Given the description of an element on the screen output the (x, y) to click on. 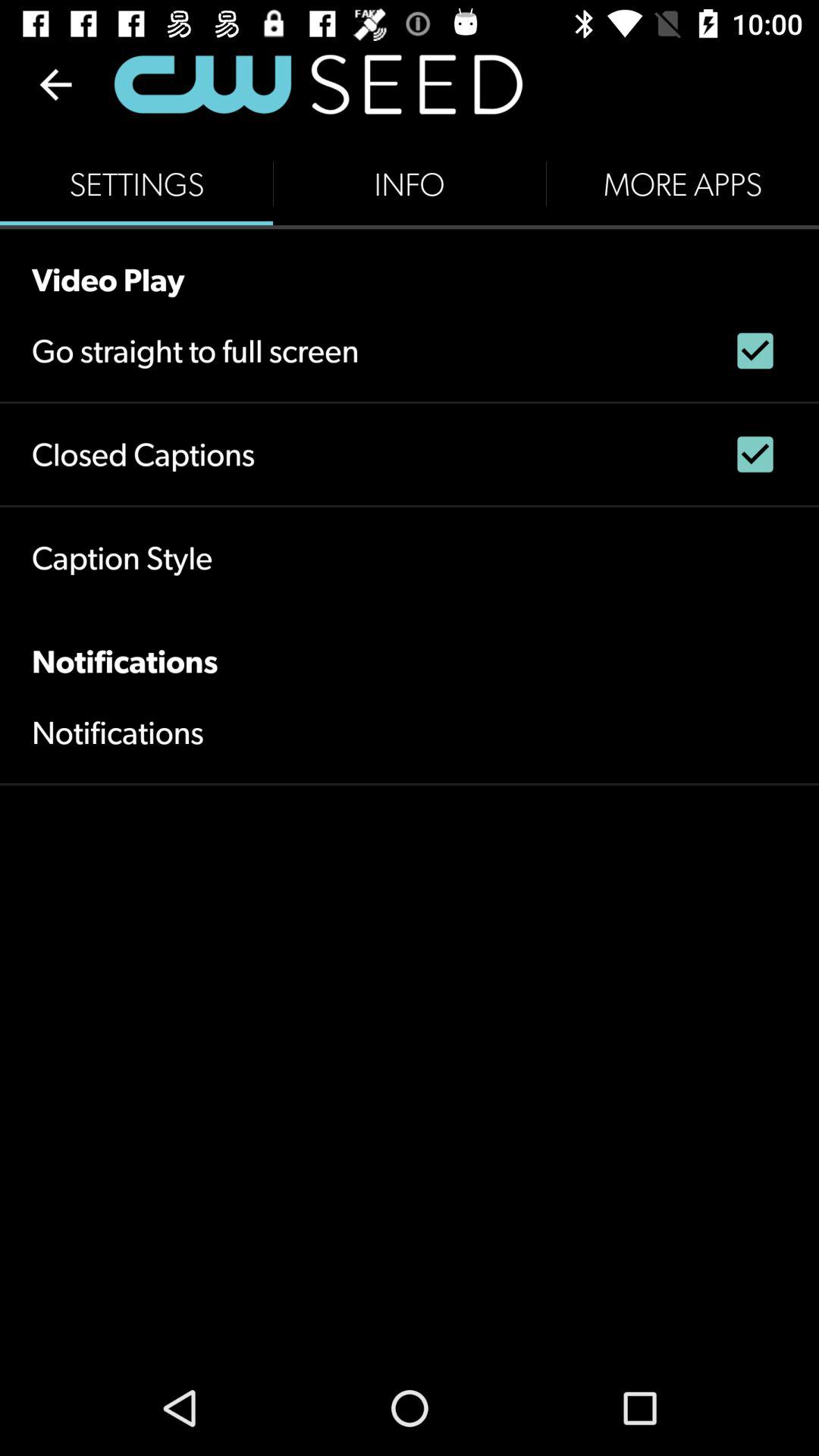
turn off the icon above the caption style item (142, 454)
